Given the description of an element on the screen output the (x, y) to click on. 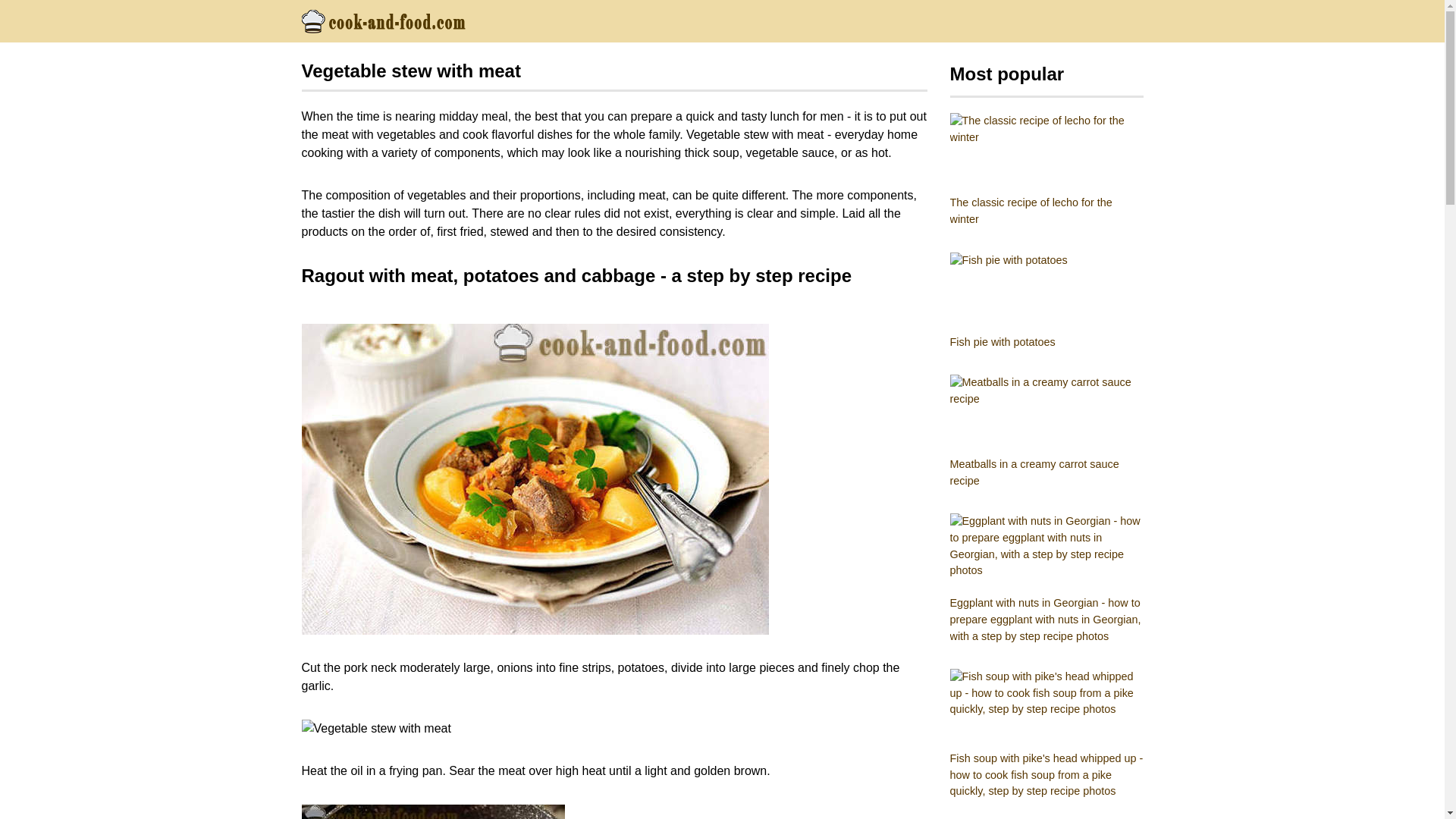
The classic recipe of lecho for the winter (1045, 170)
Meatballs in a creamy carrot sauce recipe (1045, 431)
Fish pie with potatoes (1045, 301)
